Given the description of an element on the screen output the (x, y) to click on. 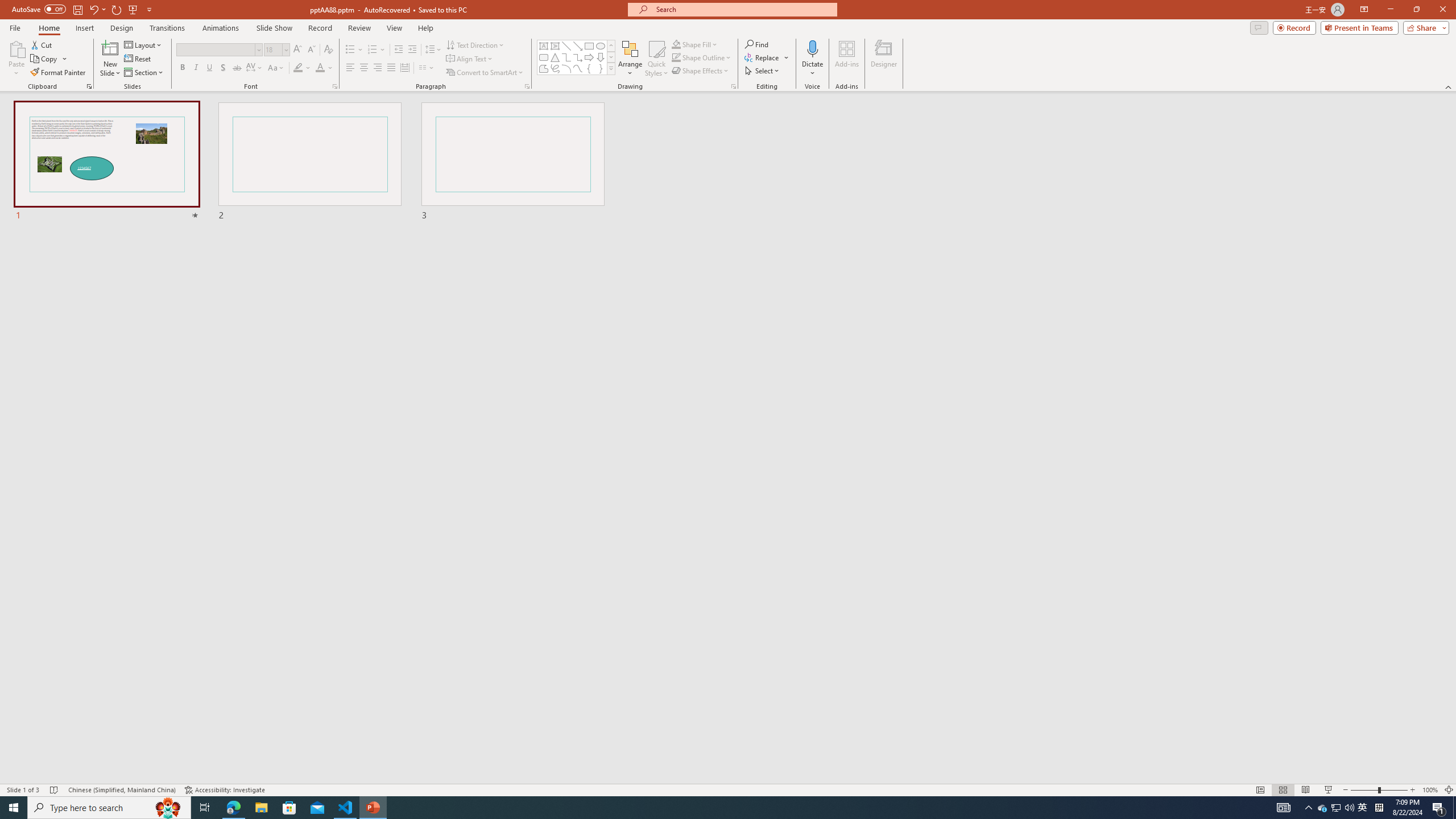
Shape Outline Teal, Accent 1 (675, 56)
